Given the description of an element on the screen output the (x, y) to click on. 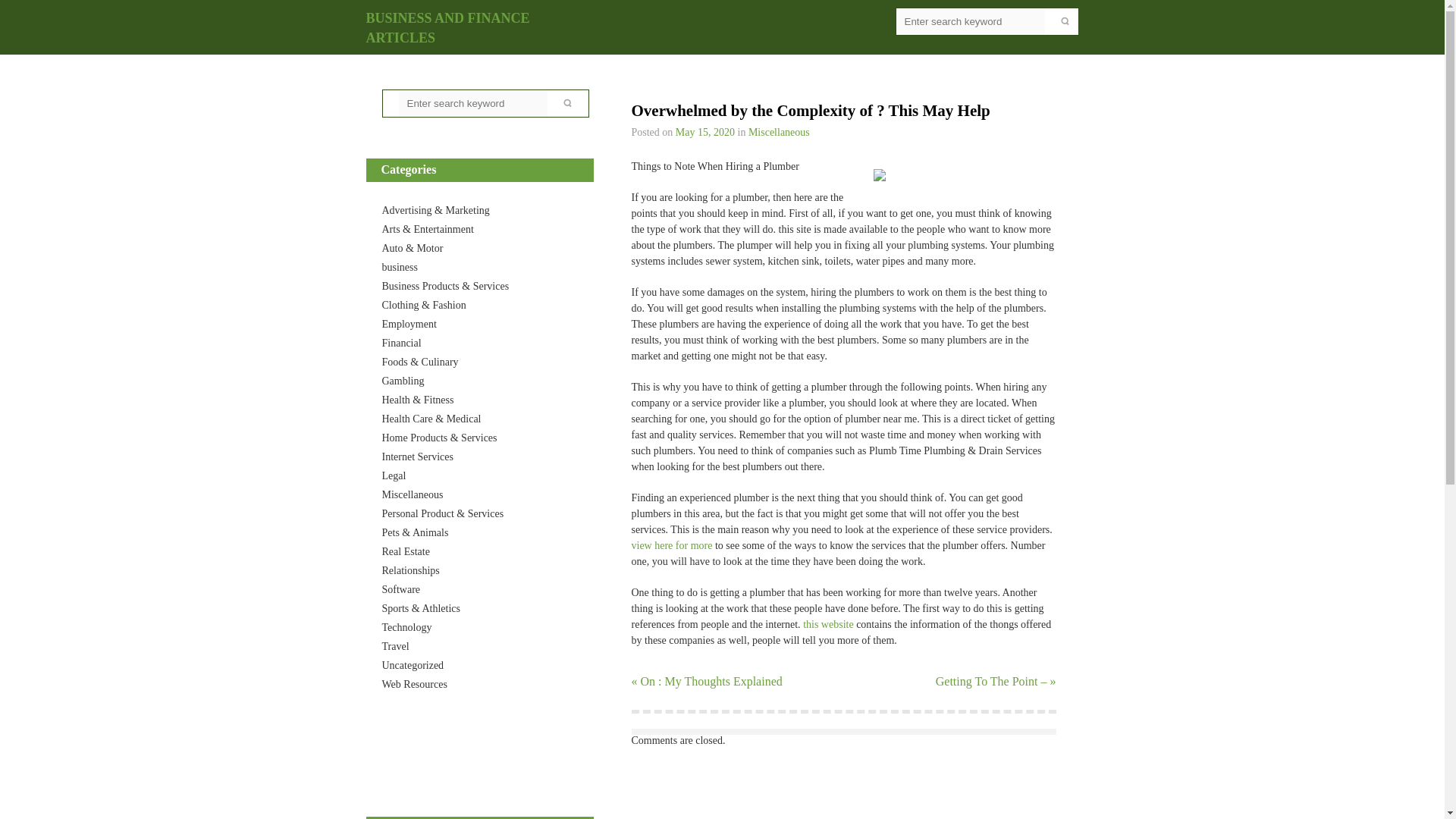
Internet Services (416, 456)
Employment (408, 324)
Legal (393, 475)
Technology (406, 627)
BUSINESS AND FINANCE ARTICLES (447, 27)
Real Estate (405, 551)
Uncategorized (412, 665)
business (399, 266)
Overwhelmed by the Complexity of ? This May Help (705, 132)
Miscellaneous (778, 132)
view here for more (670, 545)
Financial (401, 342)
Web Resources (413, 684)
Gambling (403, 380)
Relationships (410, 570)
